Given the description of an element on the screen output the (x, y) to click on. 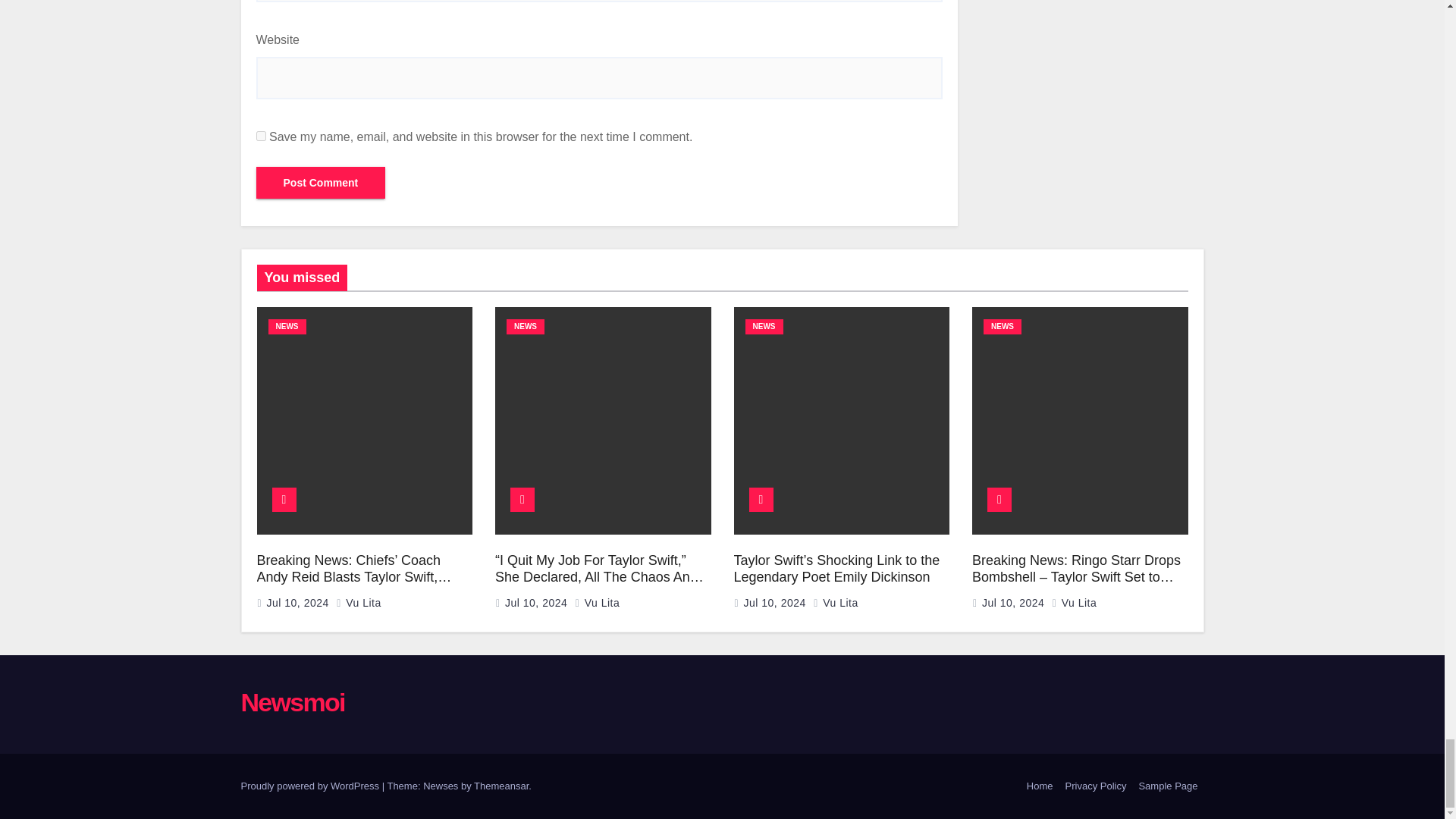
Post Comment (320, 183)
Home (1039, 786)
yes (261, 135)
